Given the description of an element on the screen output the (x, y) to click on. 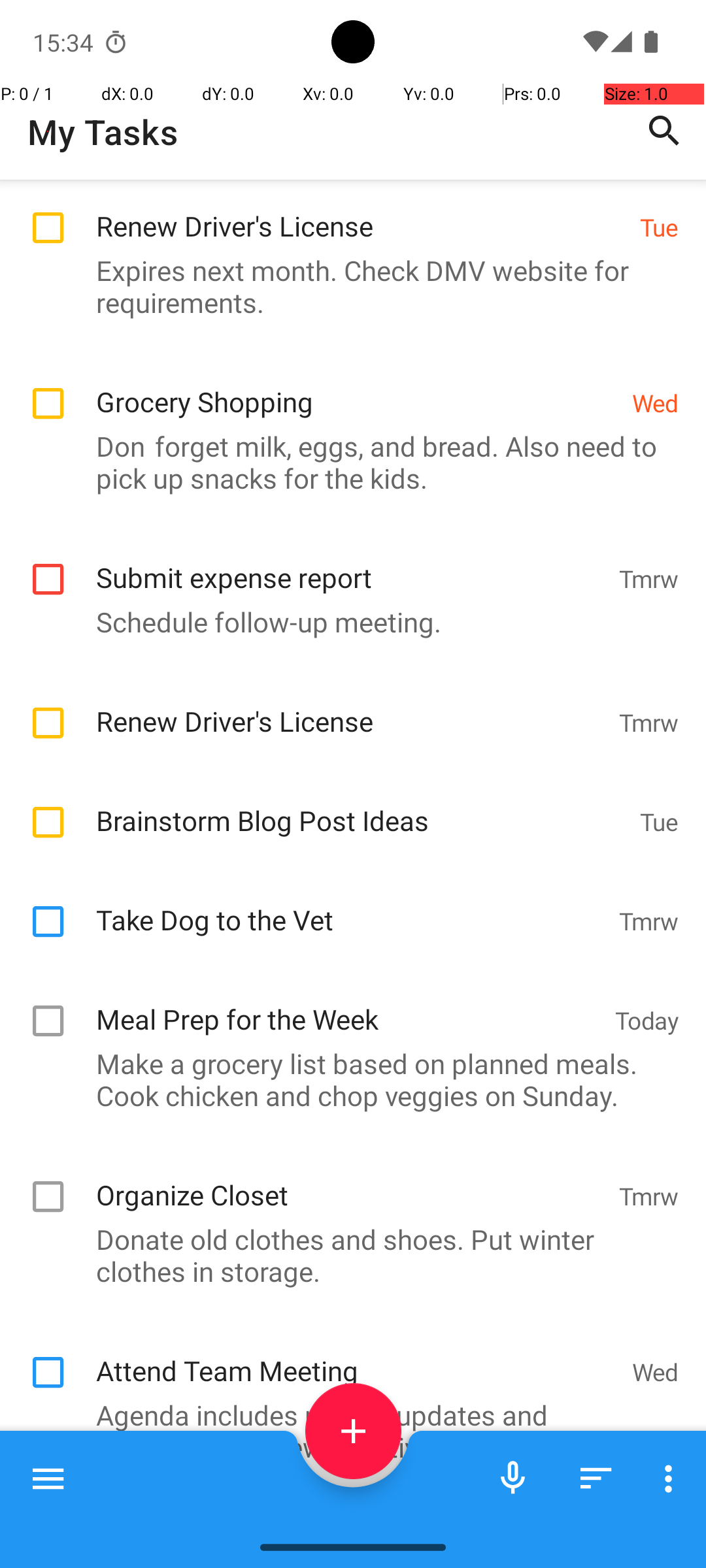
Submit expense report Element type: android.widget.TextView (350, 563)
Schedule follow-up meeting. Element type: android.widget.TextView (346, 621)
